Given the description of an element on the screen output the (x, y) to click on. 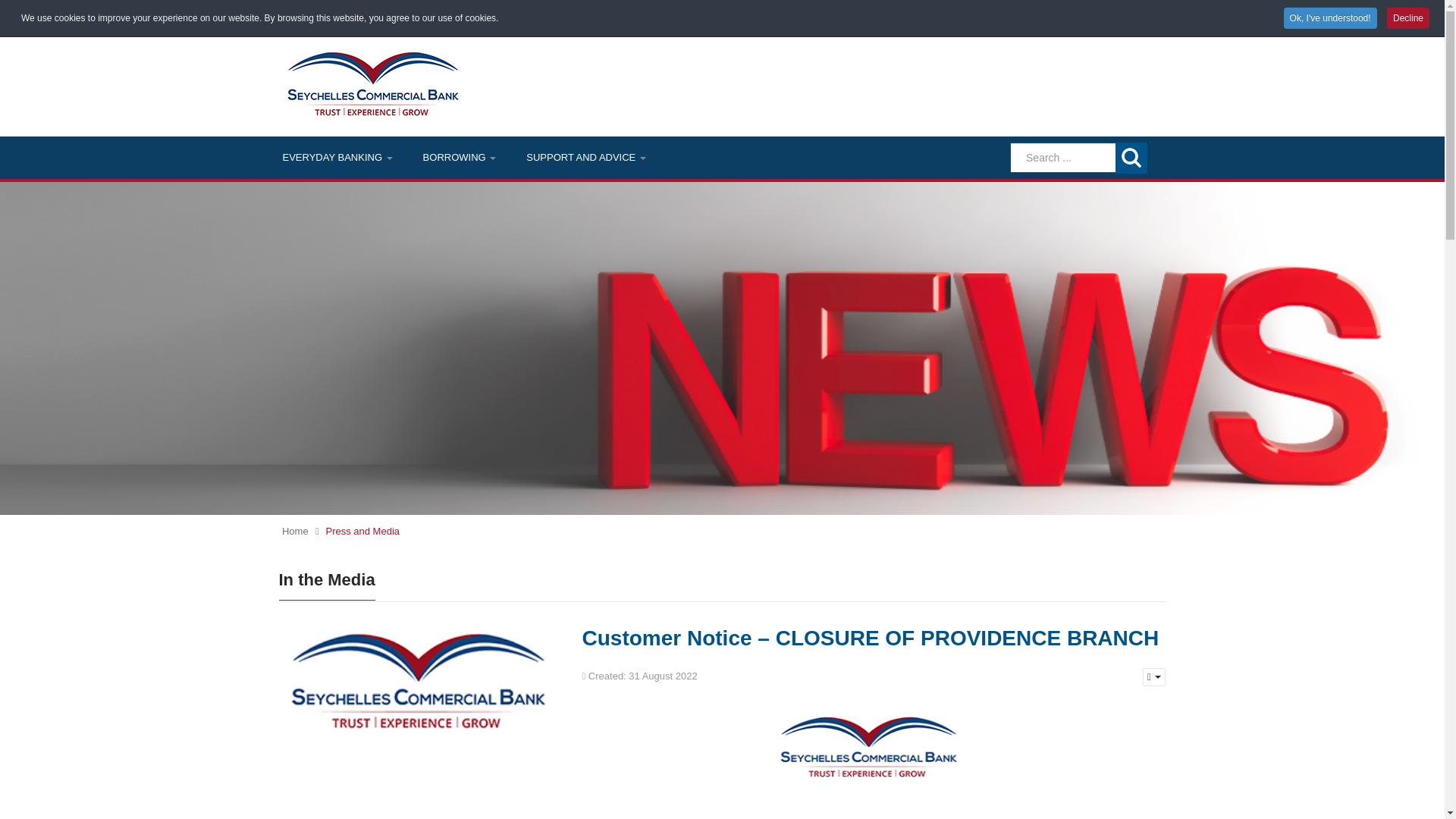
Home (304, 13)
Personal (361, 13)
Seychelles Commercial Bank (373, 83)
Corporate (428, 13)
